Given the description of an element on the screen output the (x, y) to click on. 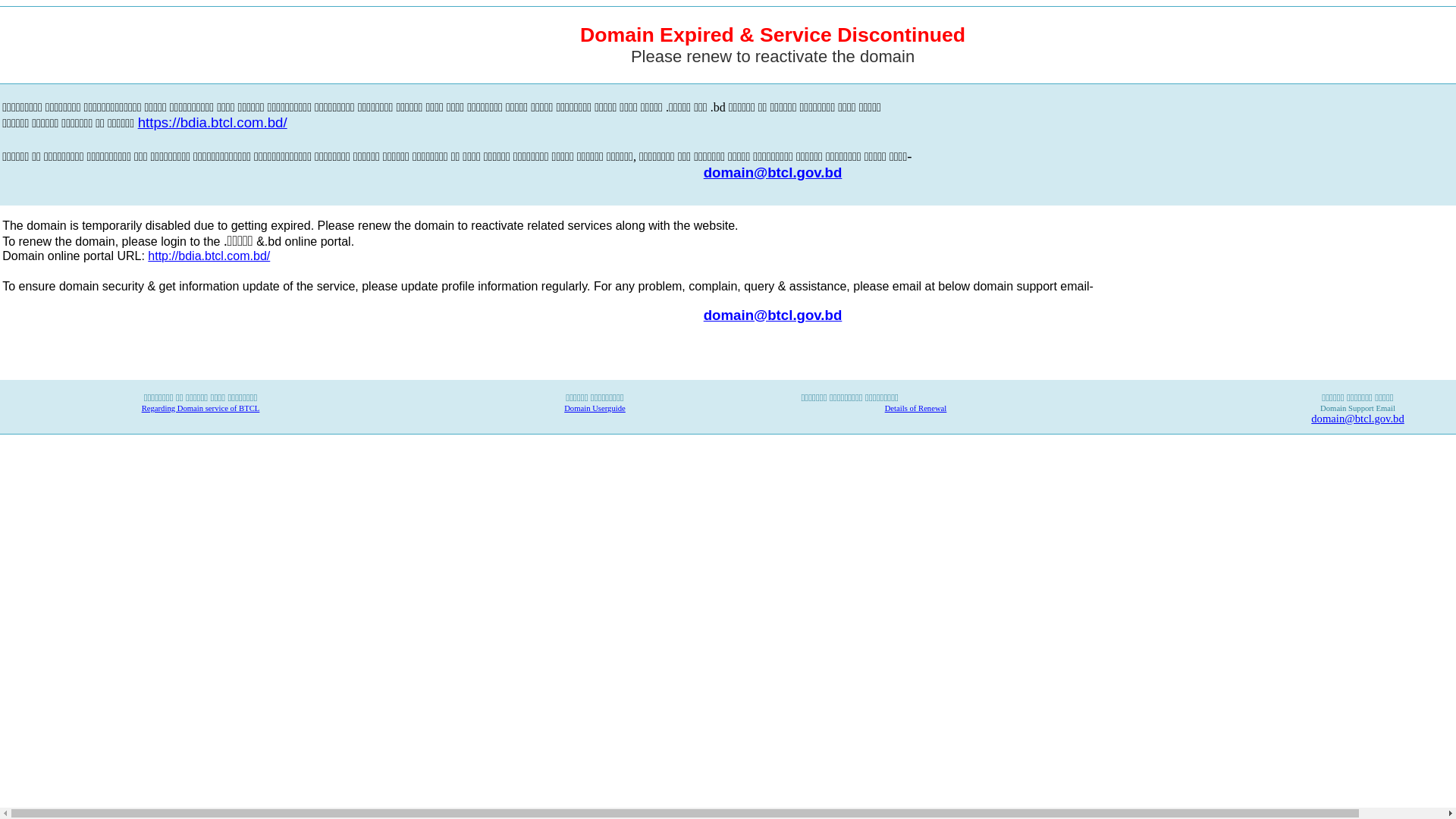
Domain Userguide Element type: text (594, 408)
domain@btcl.gov.bd Element type: text (772, 172)
http://bdia.btcl.com.bd/ Element type: text (208, 256)
Regarding Domain service of BTCL Element type: text (200, 408)
domain@btcl.gov.bd Element type: text (1357, 418)
Details of Renewal Element type: text (915, 408)
domain@btcl.gov.bd Element type: text (772, 314)
https://bdia.btcl.com.bd/ Element type: text (212, 123)
